Given the description of an element on the screen output the (x, y) to click on. 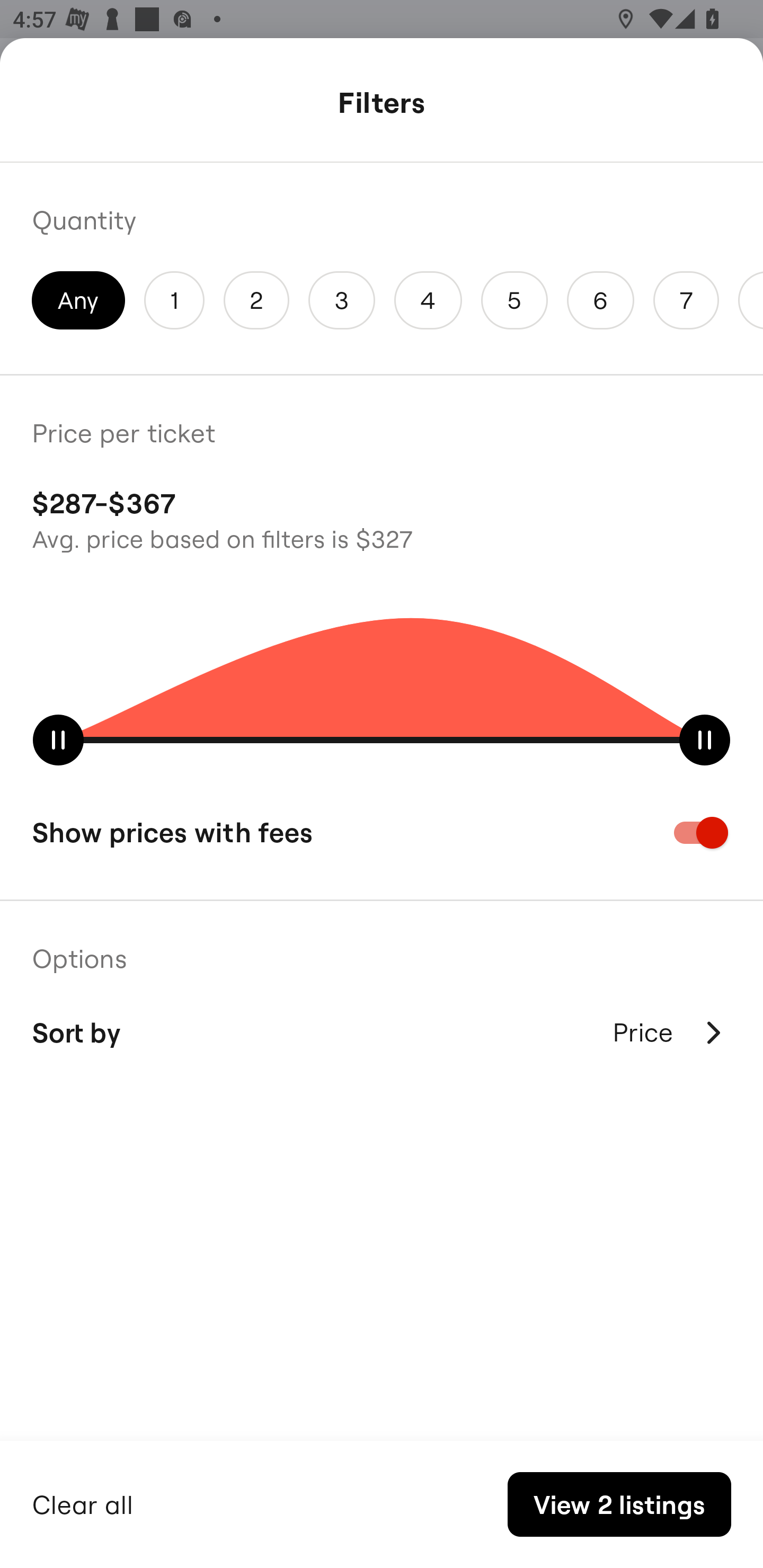
Back Wicked - Los Angeles Wed, Dec 4, 7:30 PM Info (381, 104)
Any (78, 300)
1 (173, 300)
2 (256, 300)
3 (341, 300)
4 (427, 300)
5 (514, 300)
6 (601, 300)
7 (685, 300)
$287-$367 Avg. price based on filters is $327 (381, 518)
Show prices with fees (381, 832)
Sort by Price (381, 1032)
Clear all (83, 1502)
View 2 listings (618, 1504)
